Given the description of an element on the screen output the (x, y) to click on. 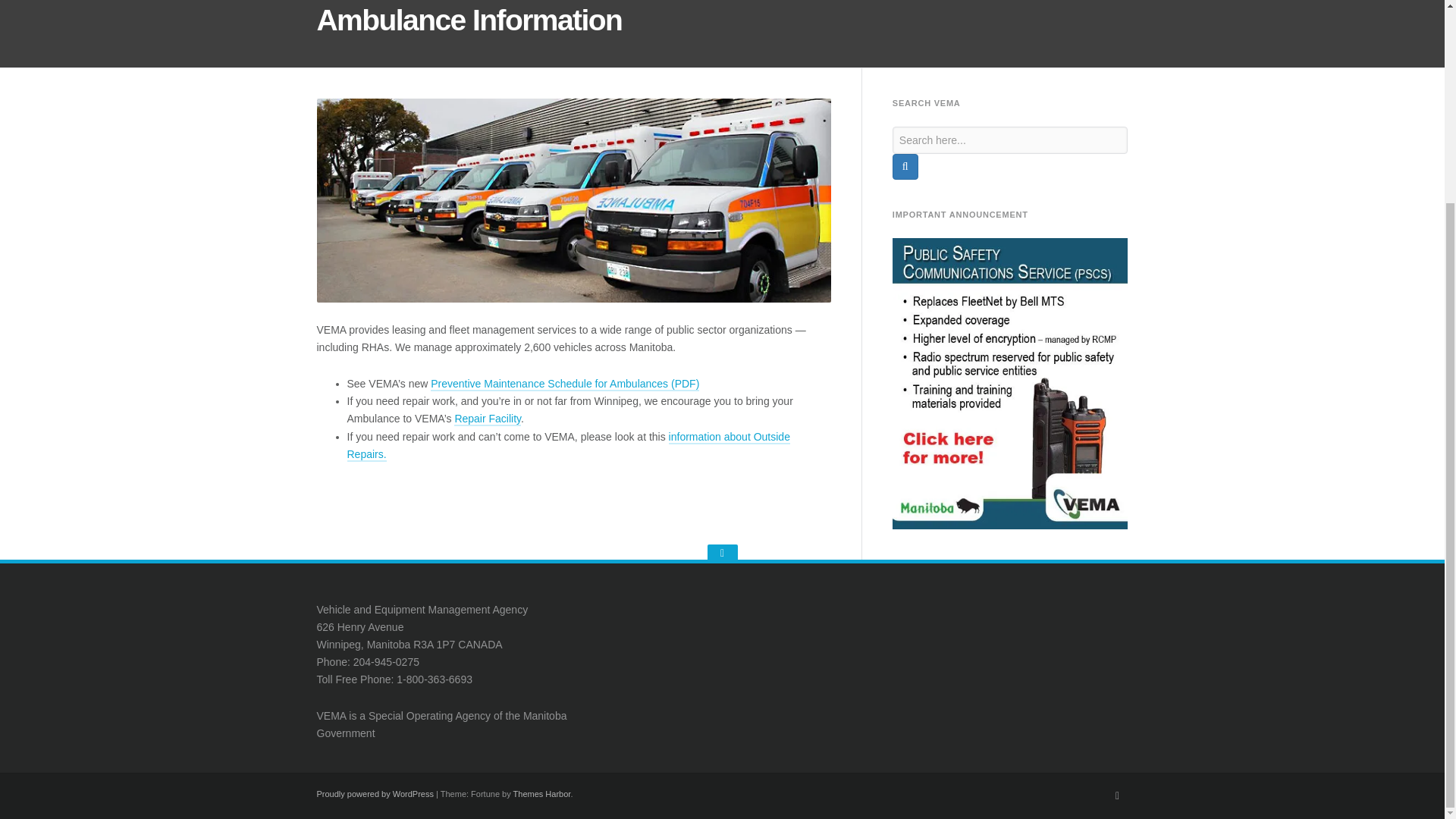
VEMA Youtube Channel (1117, 795)
information about Outside Repairs. (568, 445)
Themes Harbor (541, 793)
Proudly powered by WordPress (375, 793)
Go to the top (721, 552)
Repair Facility (487, 418)
